Given the description of an element on the screen output the (x, y) to click on. 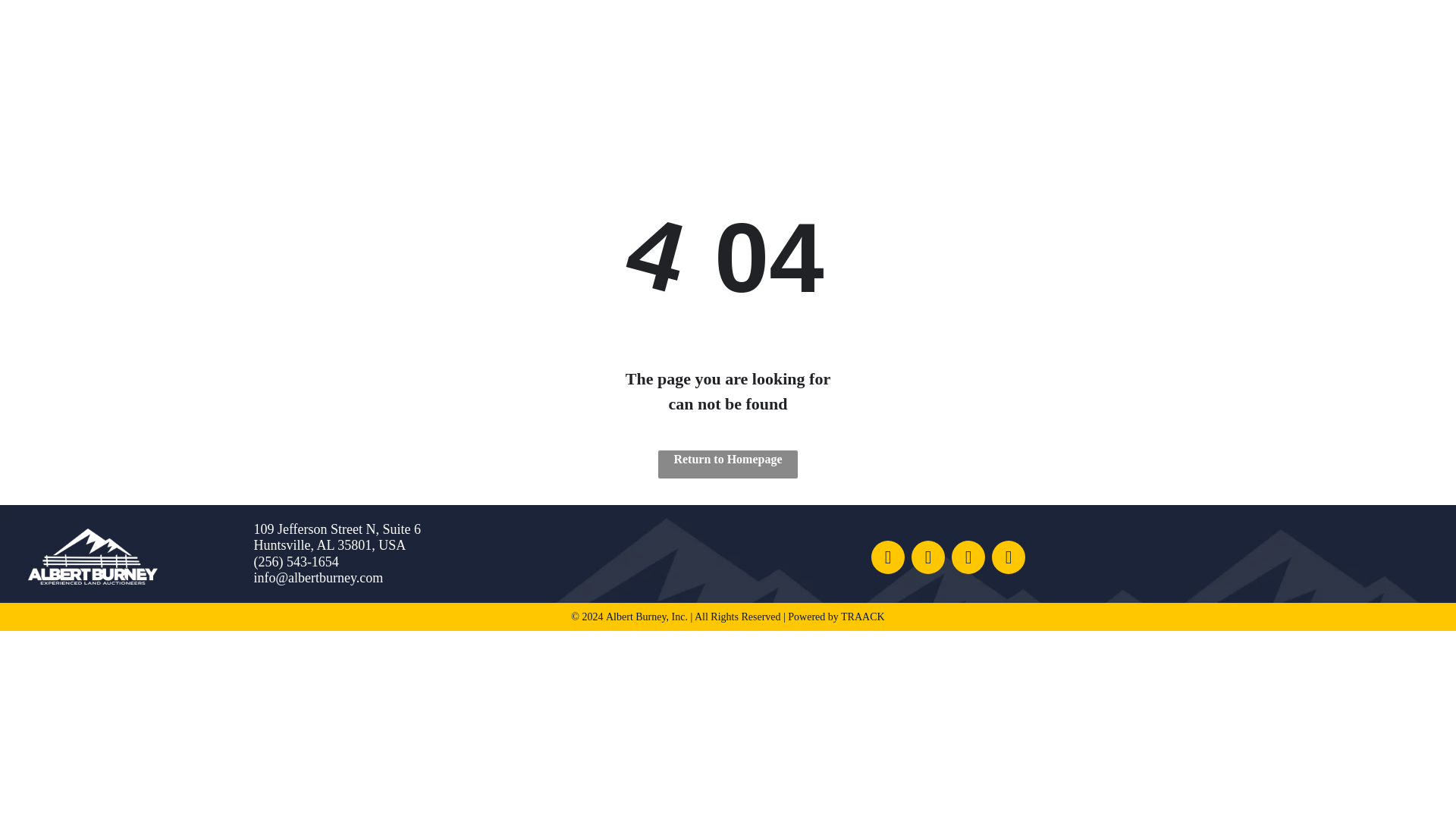
AUCTIONS (331, 44)
BUYERS (432, 44)
AGENTS (612, 44)
Return to Homepage (727, 464)
SELLERS (523, 44)
